Given the description of an element on the screen output the (x, y) to click on. 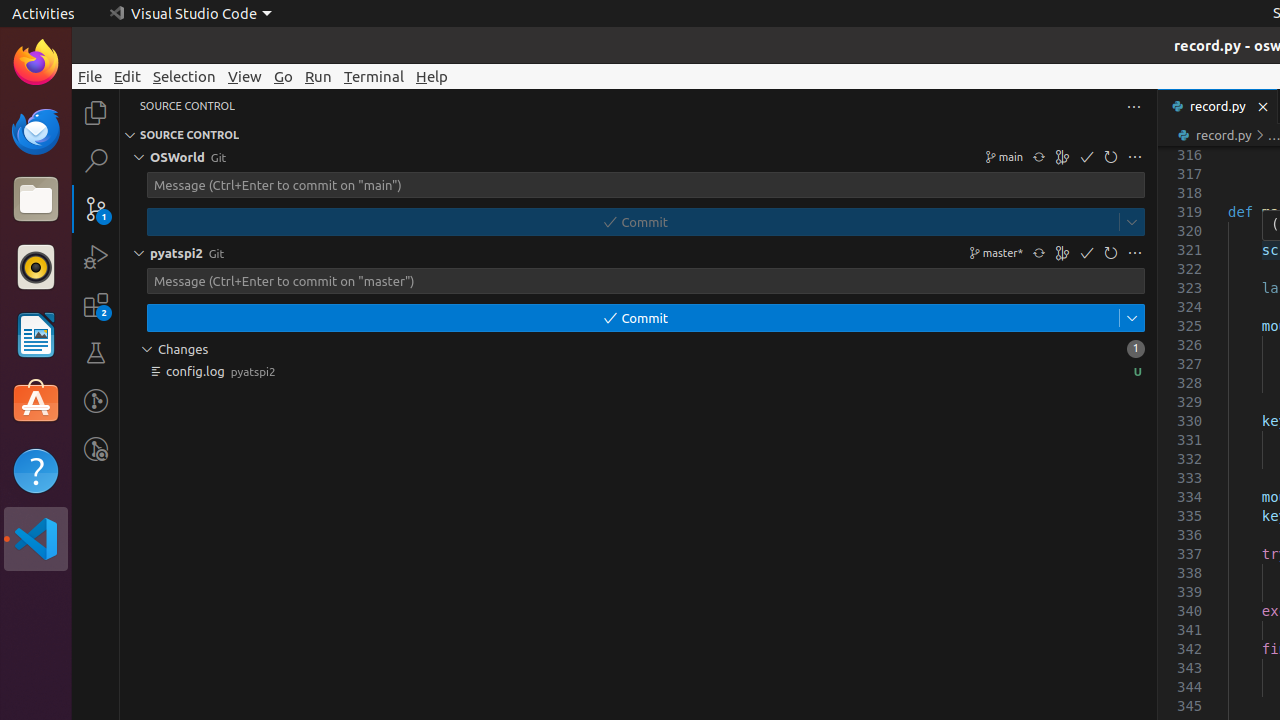
Refresh Element type: push-button (1111, 253)
pyatspi2 Git Element type: tree-item (638, 253)
Commit Element type: push-button (1087, 253)
